Given the description of an element on the screen output the (x, y) to click on. 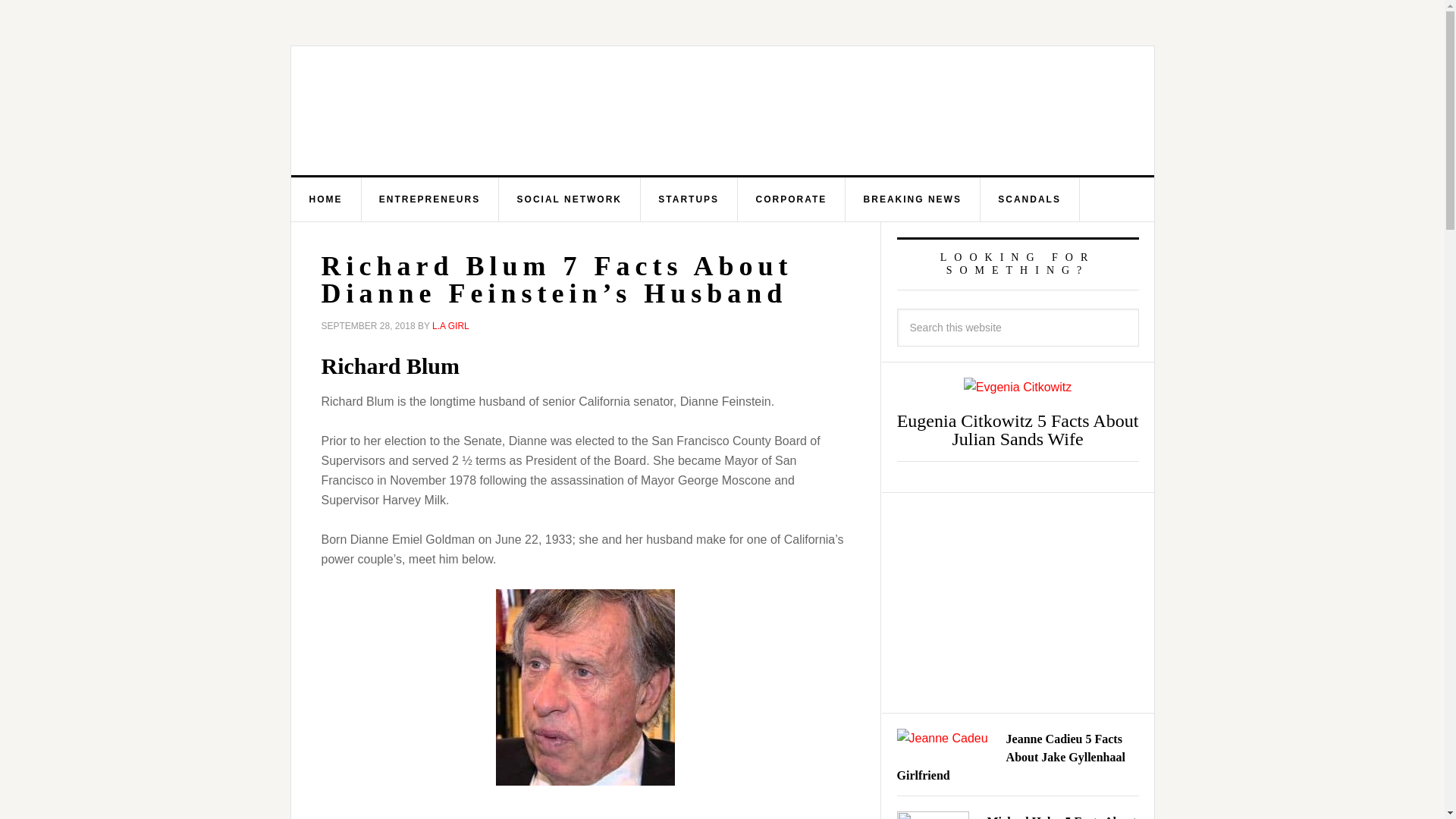
Michael Haley 5 Facts About Nikki Haley Husband (1062, 816)
HOME (326, 199)
BREAKING NEWS (912, 199)
ENTREPRENEURS (430, 199)
L.A GIRL (450, 326)
CORPORATE (790, 199)
Eugenia Citkowitz 5 Facts About Julian Sands Wife (1017, 429)
STARTUPS (689, 199)
WAGCENTER.COM (442, 110)
Jeanne Cadieu 5 Facts About Jake Gyllenhaal Girlfriend (1010, 757)
SOCIAL NETWORK (569, 199)
SCANDALS (1029, 199)
